Given the description of an element on the screen output the (x, y) to click on. 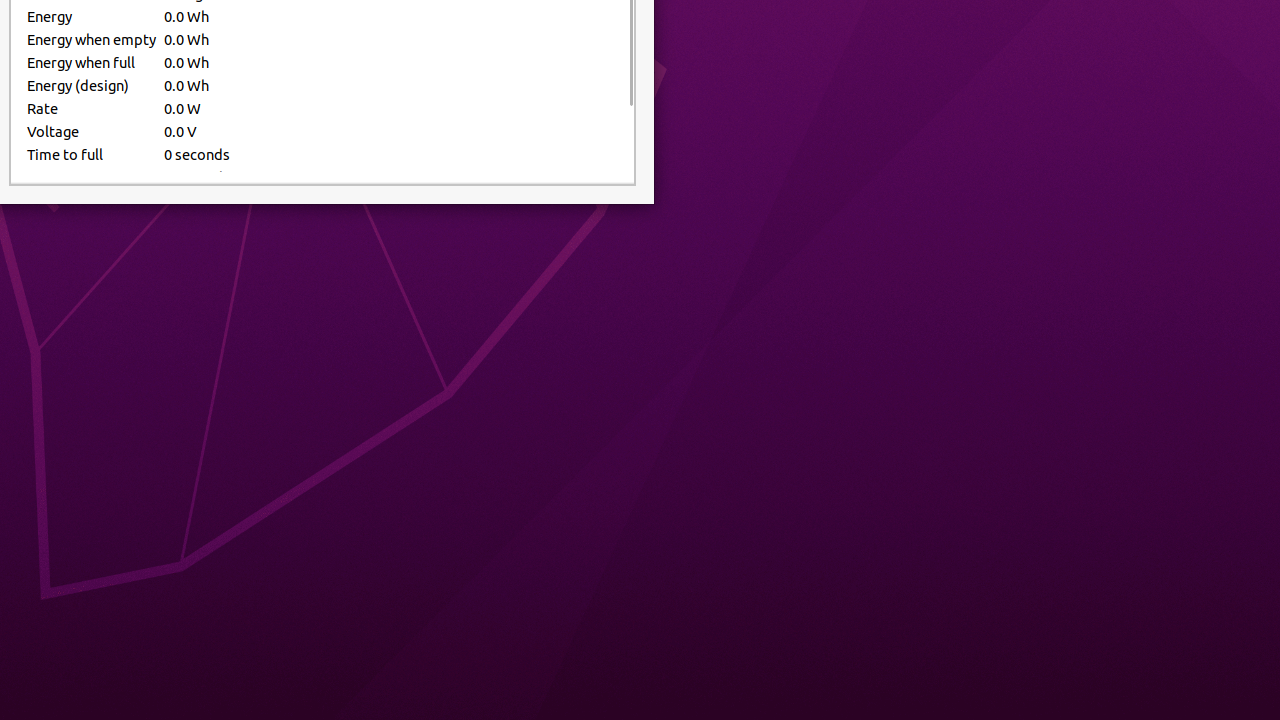
Rate Element type: table-cell (91, 108)
0 seconds Element type: table-cell (391, 154)
